Given the description of an element on the screen output the (x, y) to click on. 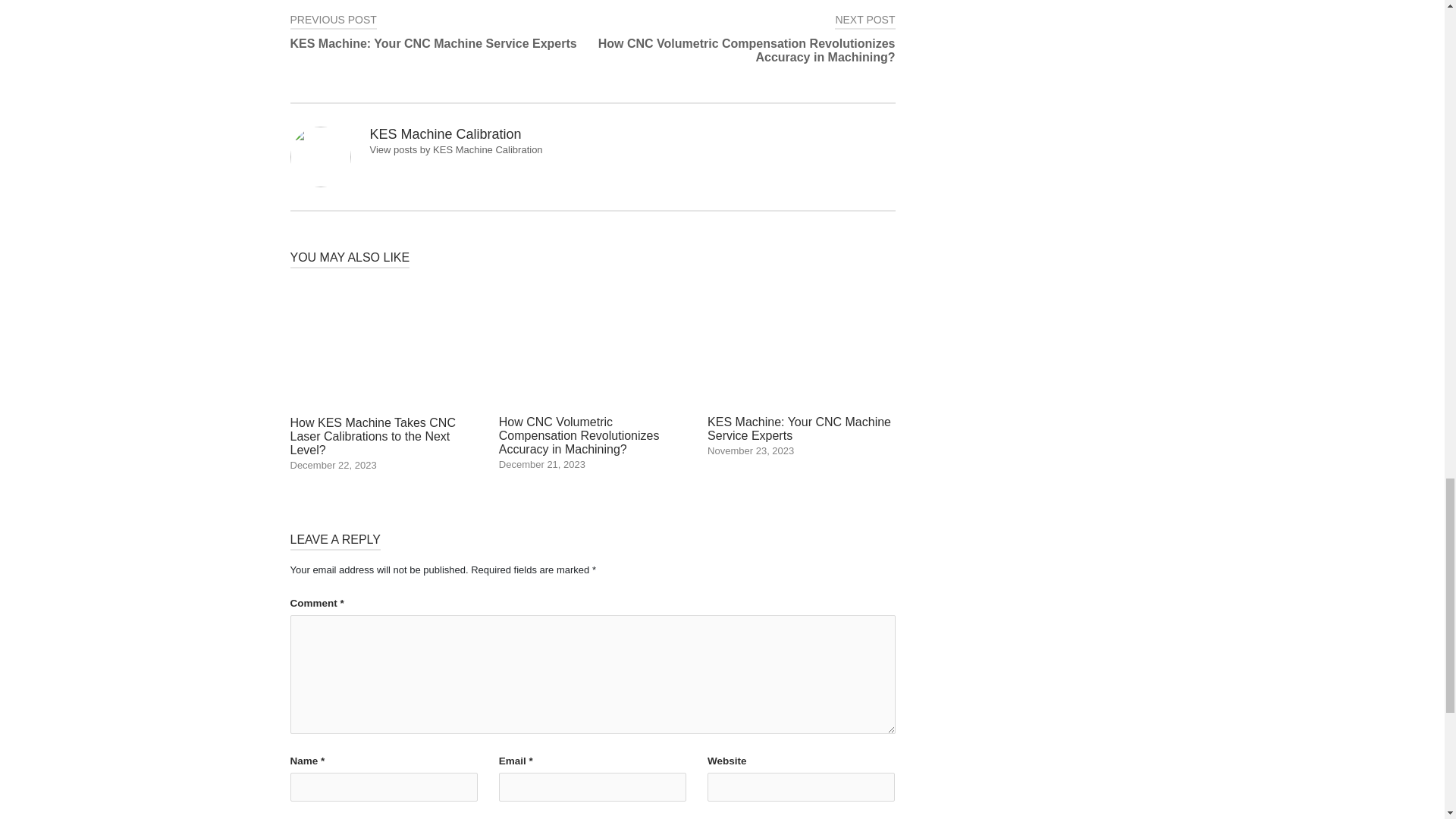
KES Machine: Your CNC Machine Service Experts (801, 369)
View posts by KES Machine Calibration (440, 31)
